Given the description of an element on the screen output the (x, y) to click on. 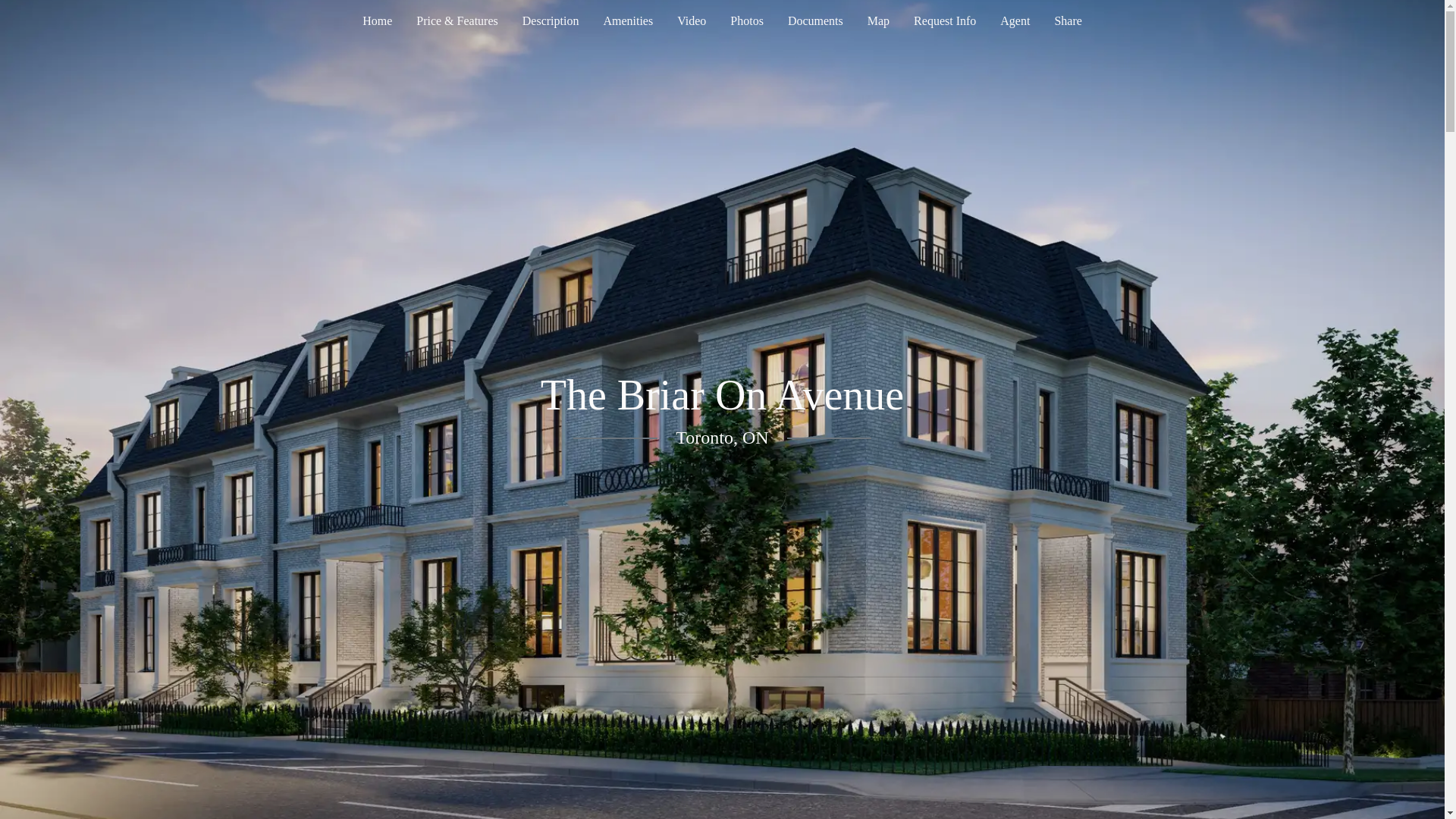
Photos (746, 20)
Share (1067, 20)
Map (878, 20)
Description (551, 20)
Agent (1015, 20)
Amenities (628, 20)
Share (1067, 20)
Request Info (944, 20)
Description (551, 20)
Agent (1015, 20)
